Given the description of an element on the screen output the (x, y) to click on. 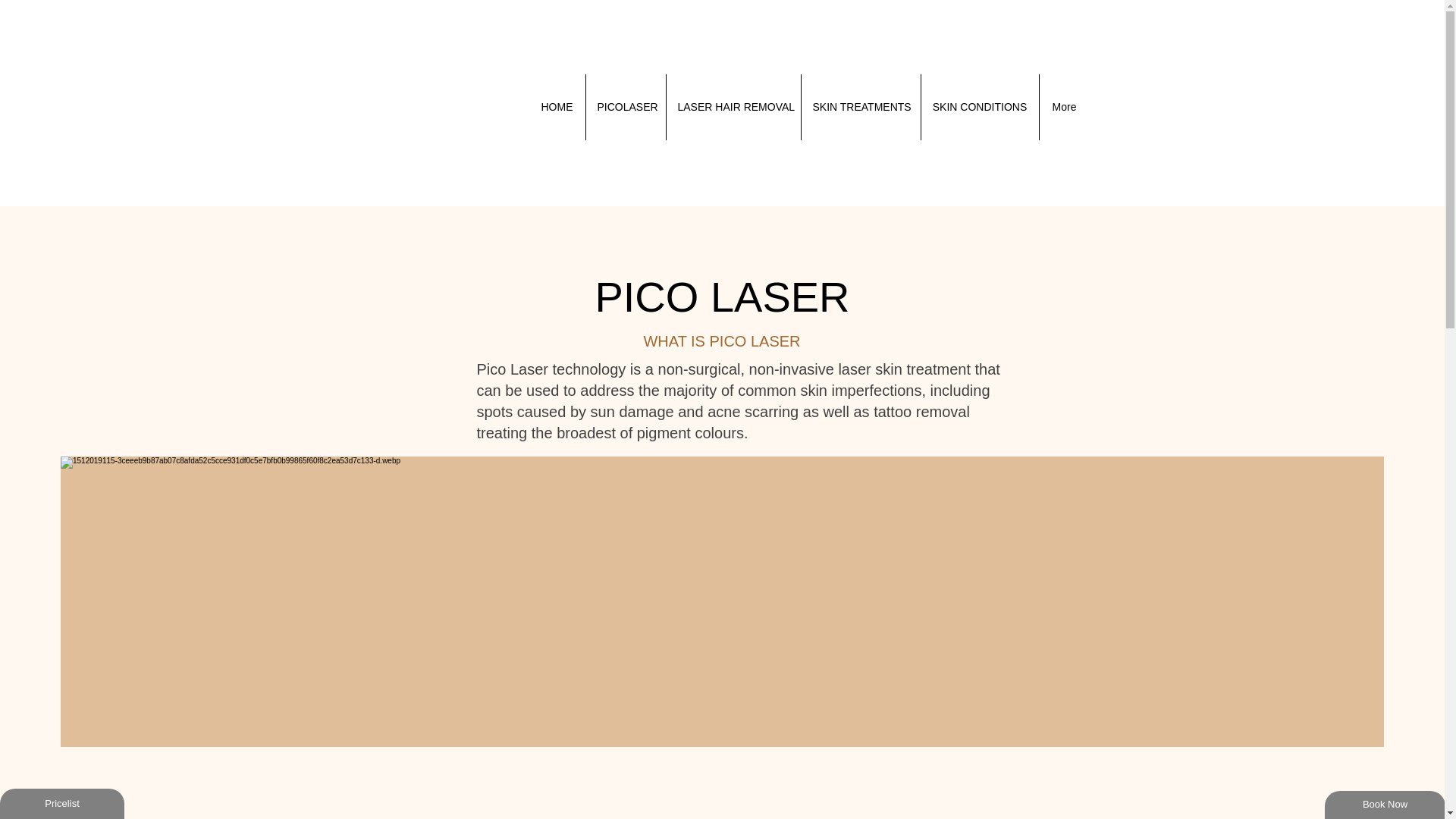
PICOLASER (625, 107)
SKIN CONDITIONS (979, 107)
Pricelist (61, 803)
LASER HAIR REMOVAL (732, 107)
SKIN TREATMENTS (860, 107)
